Given the description of an element on the screen output the (x, y) to click on. 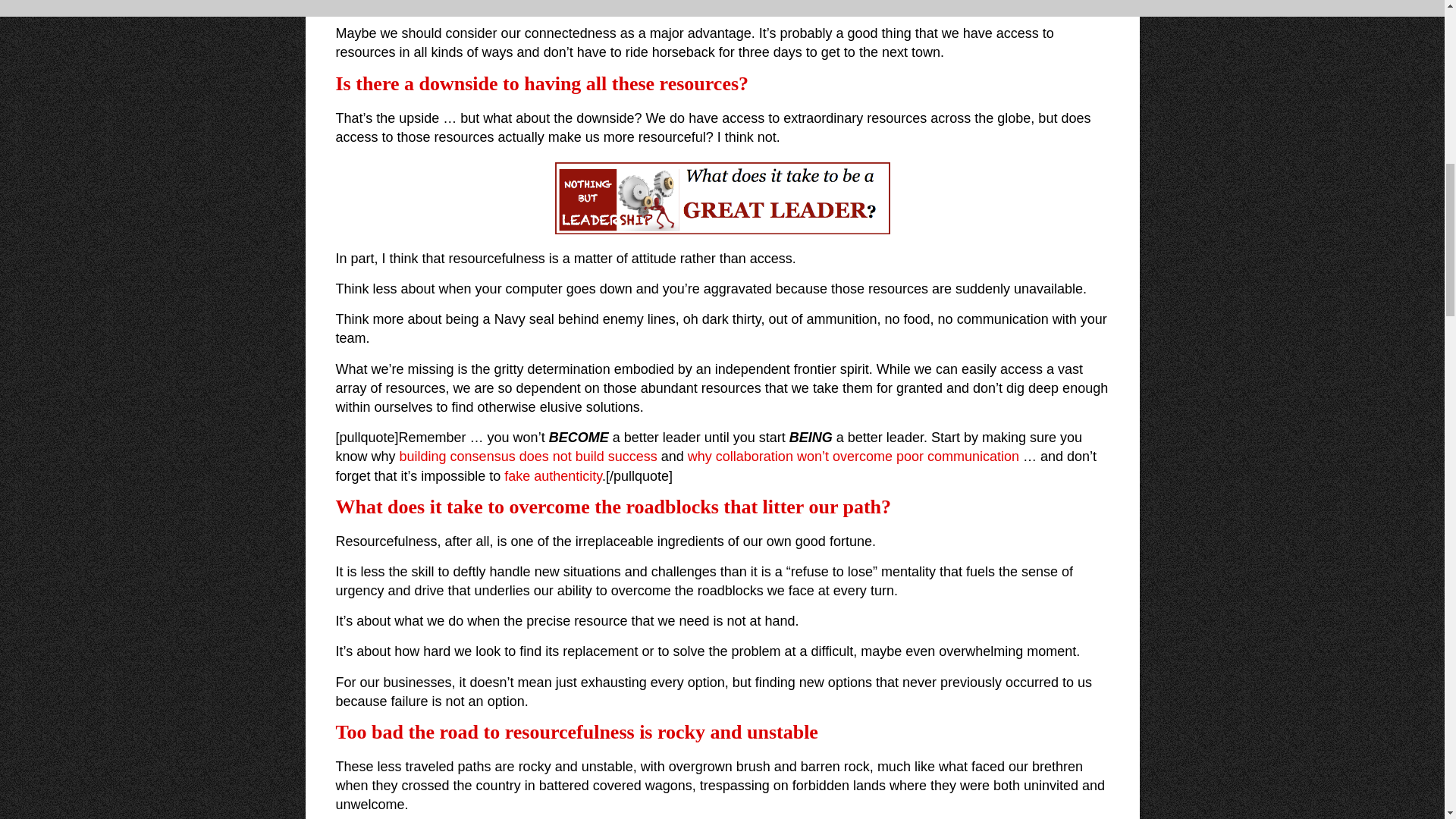
Nothing but Leadership Revised Logo Jan12 (721, 198)
Collaboration won't overcome poor communication (853, 456)
Building Consensus does not Build Success (528, 456)
